Given the description of an element on the screen output the (x, y) to click on. 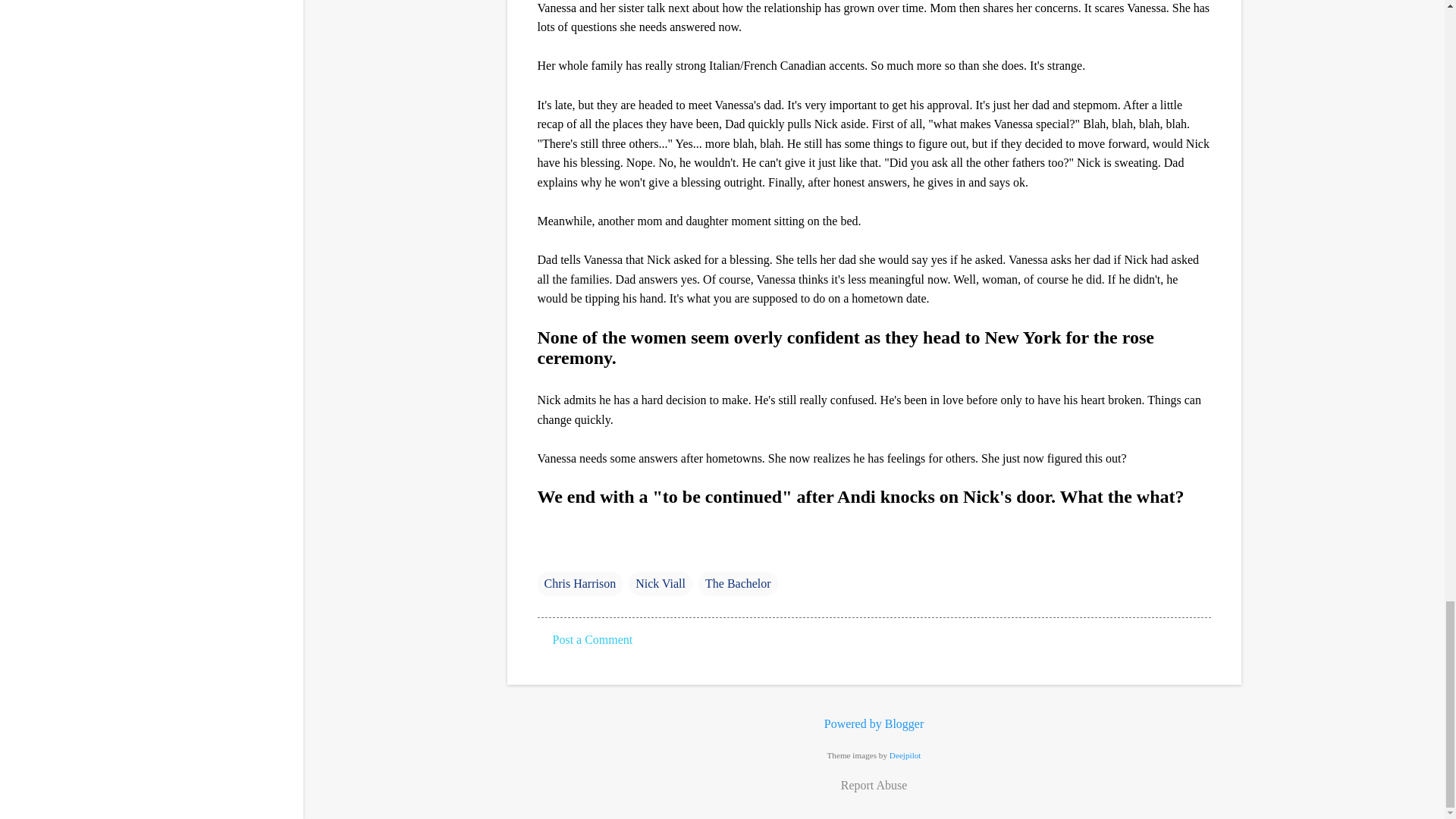
Nick Viall (660, 583)
The Bachelor (737, 583)
Powered by Blogger (874, 723)
Email Post (545, 553)
Post a Comment (591, 639)
Report Abuse (874, 785)
Chris Harrison (580, 583)
Deejpilot (905, 755)
